Given the description of an element on the screen output the (x, y) to click on. 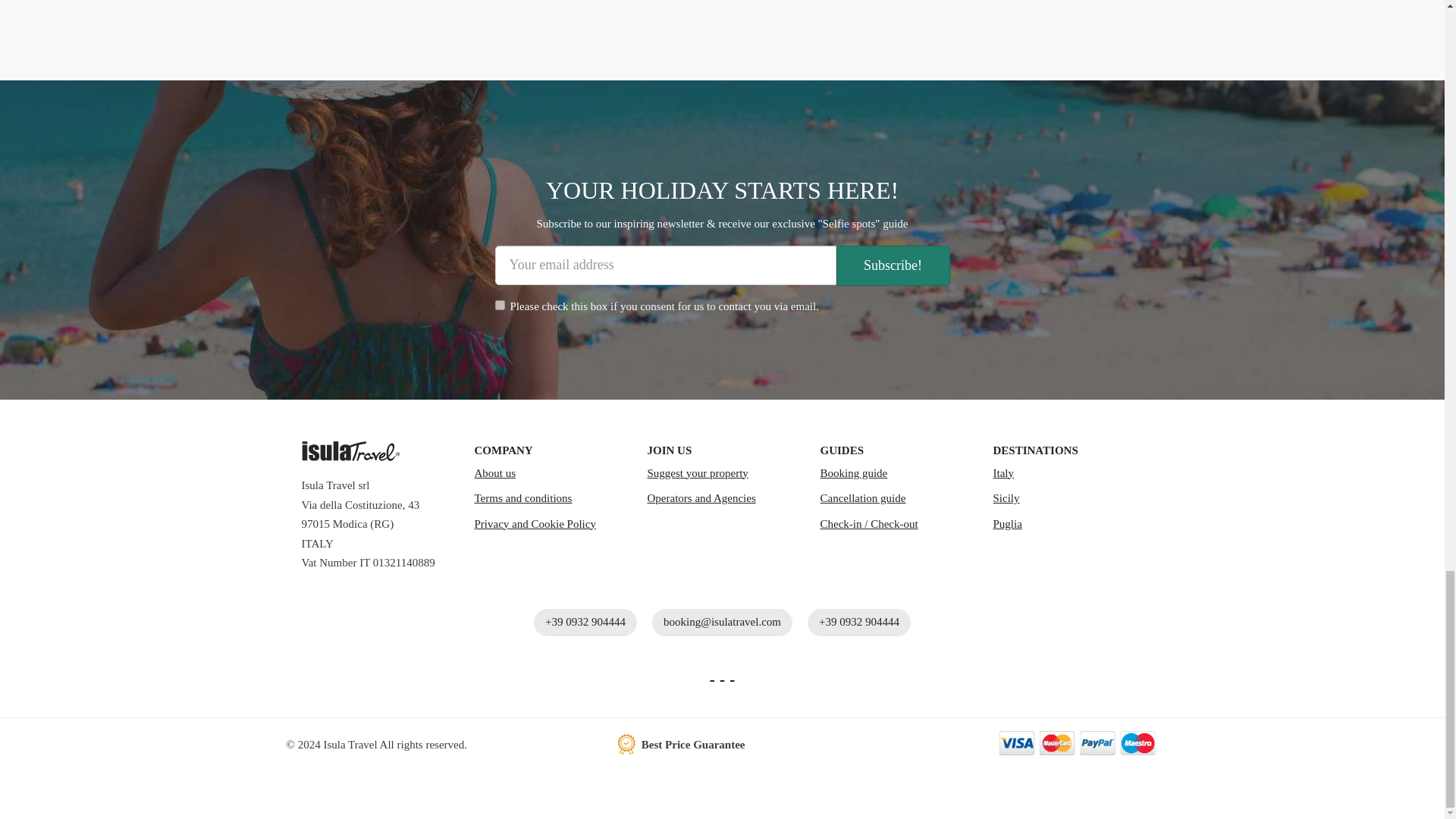
Suggest your property (722, 473)
About us (549, 473)
Terms and conditions (549, 498)
1 (499, 305)
Privacy and Cookie Policy (549, 524)
Subscribe! (892, 265)
Home (350, 451)
